Given the description of an element on the screen output the (x, y) to click on. 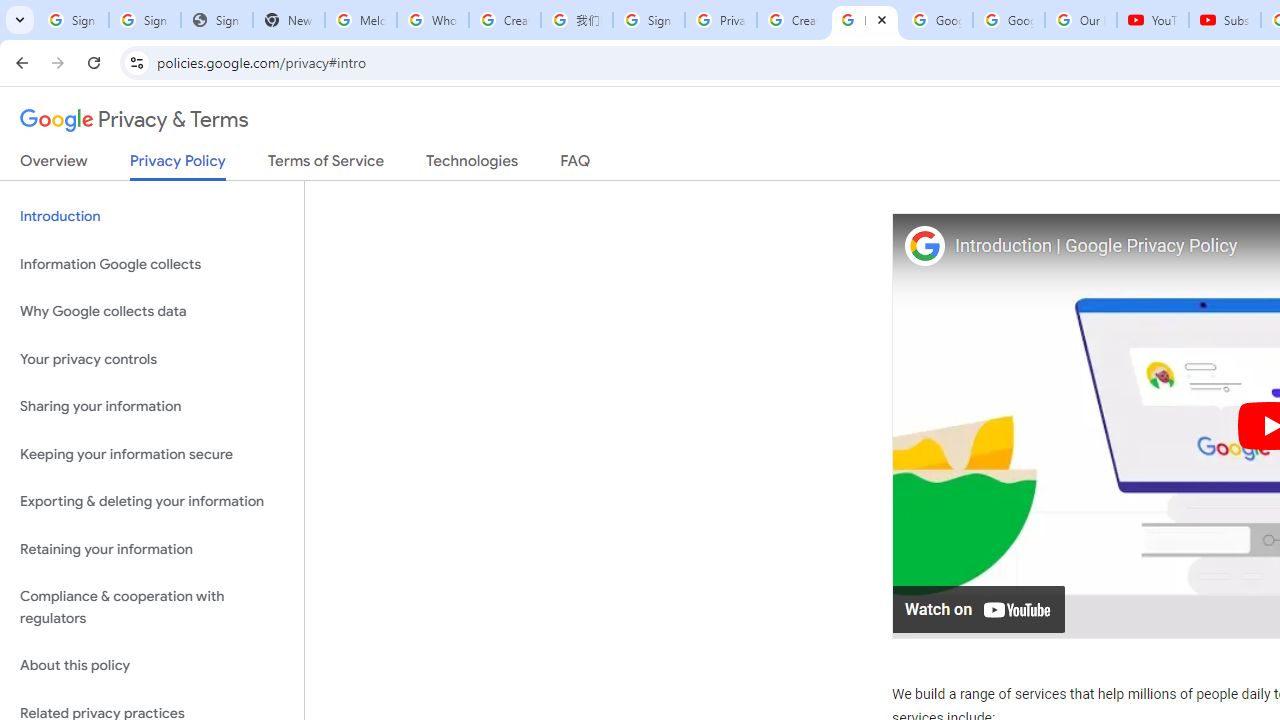
About this policy (152, 666)
Sign In - USA TODAY (216, 20)
New Tab (289, 20)
Compliance & cooperation with regulators (152, 607)
Create your Google Account (792, 20)
Exporting & deleting your information (152, 502)
